Given the description of an element on the screen output the (x, y) to click on. 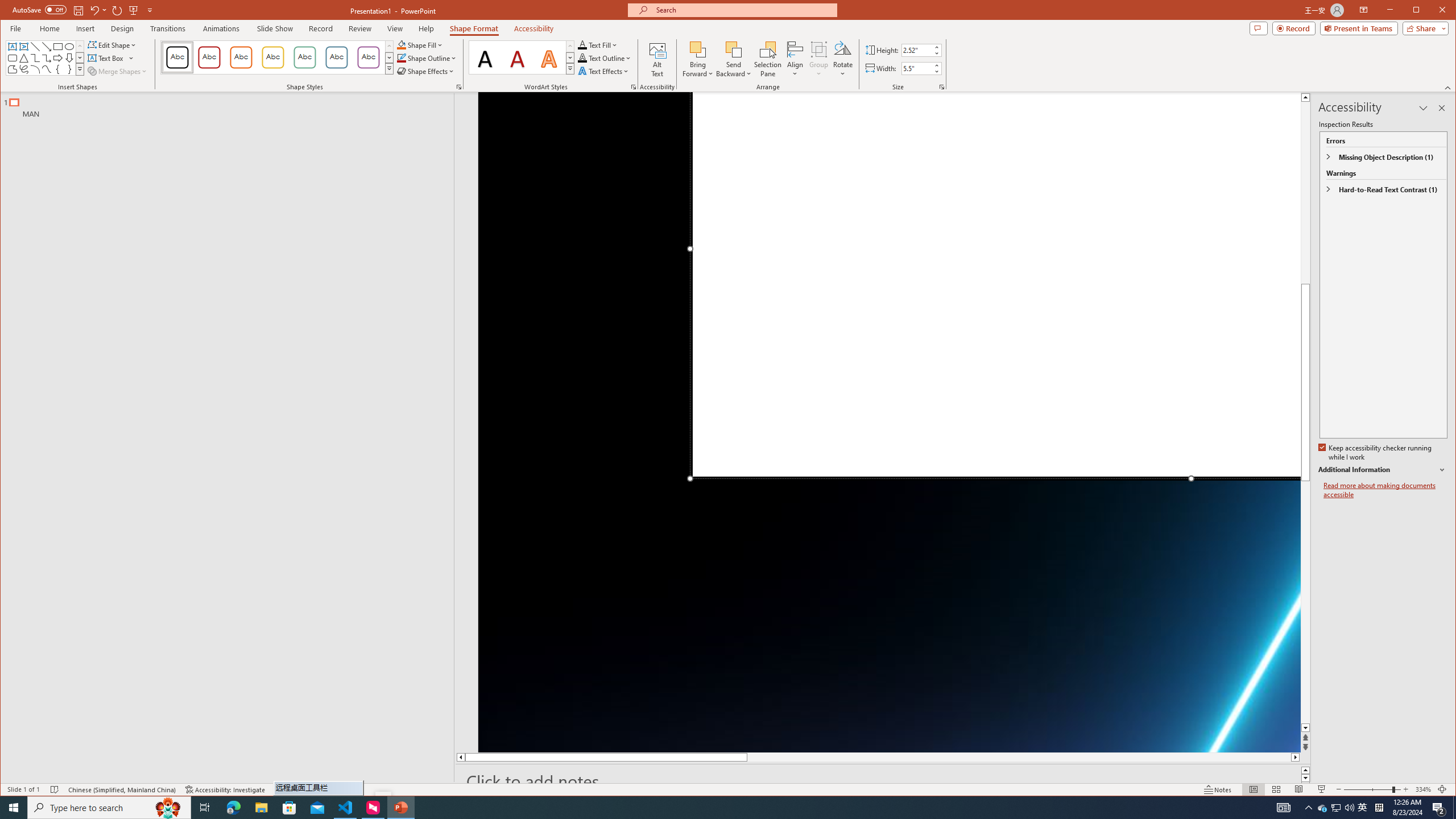
Selection Pane... (767, 59)
Colored Outline - Gold, Accent 3 (272, 57)
Neon laser lights aligned to form a triangle (889, 421)
Less (935, 70)
Maximize (1432, 11)
Text Outline (604, 57)
Send Backward (733, 59)
Keep accessibility checker running while I work (1375, 452)
Edit Shape (112, 44)
